Given the description of an element on the screen output the (x, y) to click on. 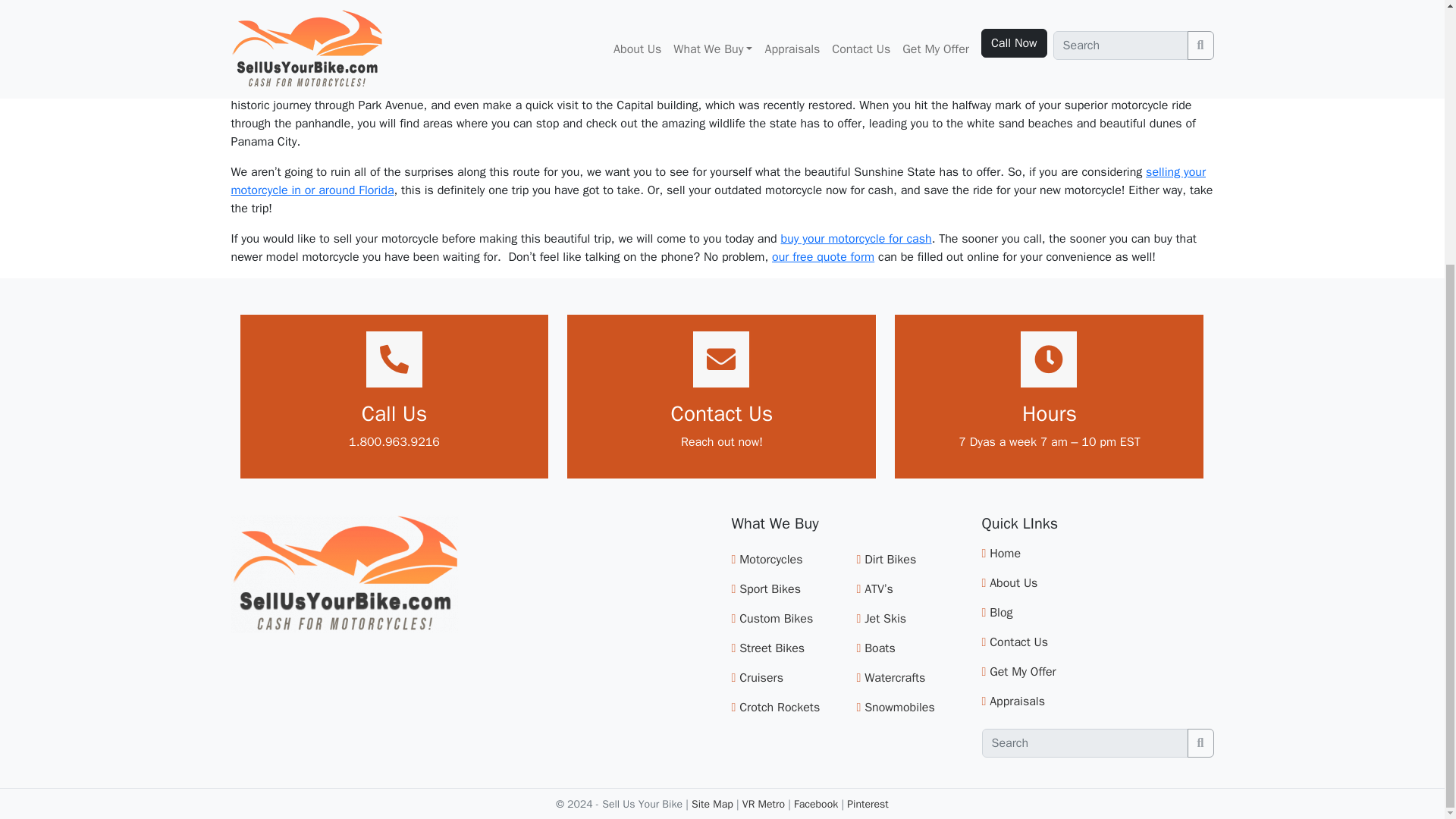
Cash For Motorcycles (855, 238)
1.800.963.9216 (394, 441)
Dirt Bikes (889, 559)
Crotch Rockets (779, 707)
Cruisers (761, 677)
Free Online Quote Form (823, 256)
our free quote form (823, 256)
Sport Bikes (769, 589)
Sell a Motorcycle in Florida (717, 181)
Motorcycles (770, 559)
